Given the description of an element on the screen output the (x, y) to click on. 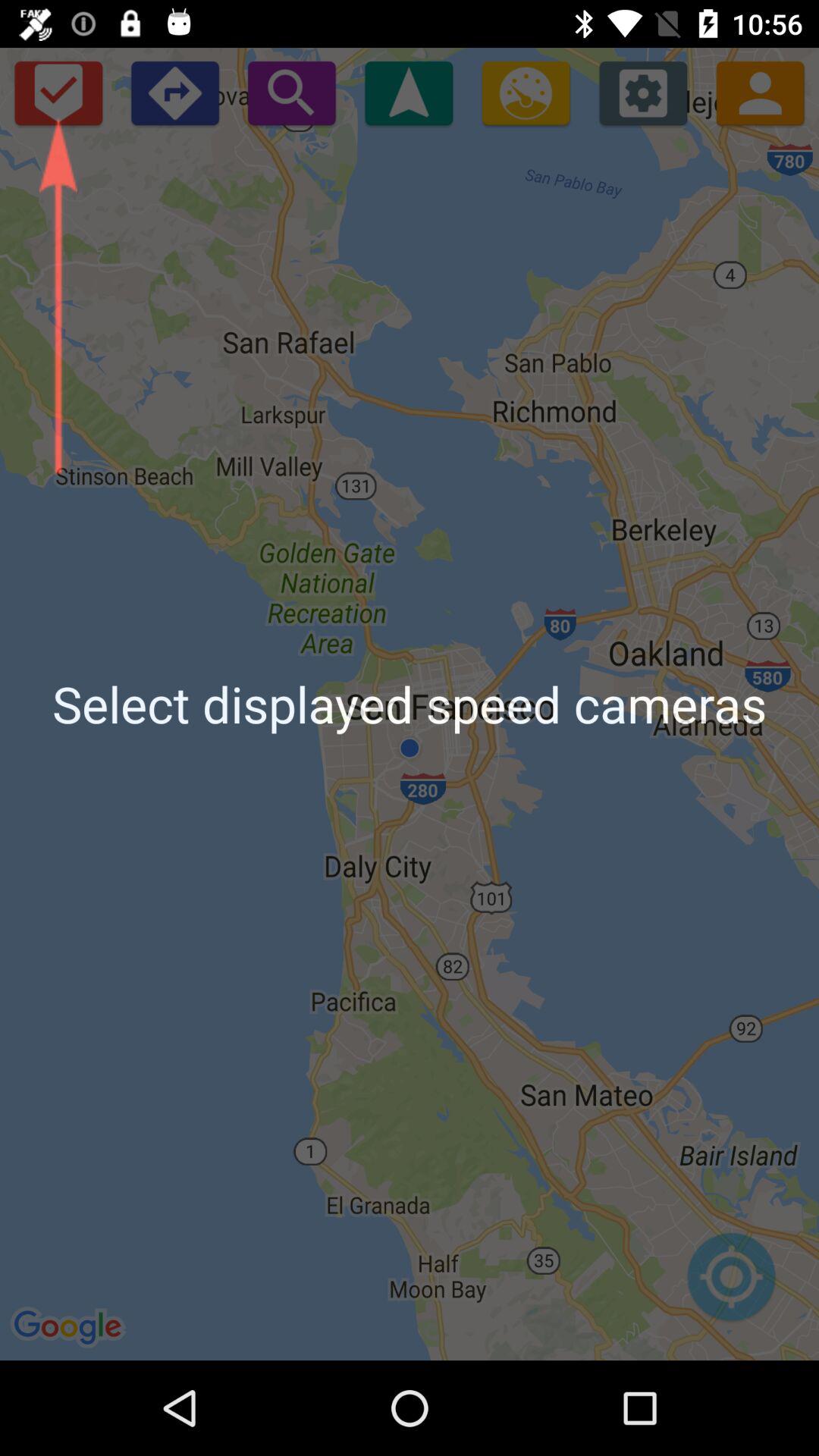
friends (760, 92)
